Given the description of an element on the screen output the (x, y) to click on. 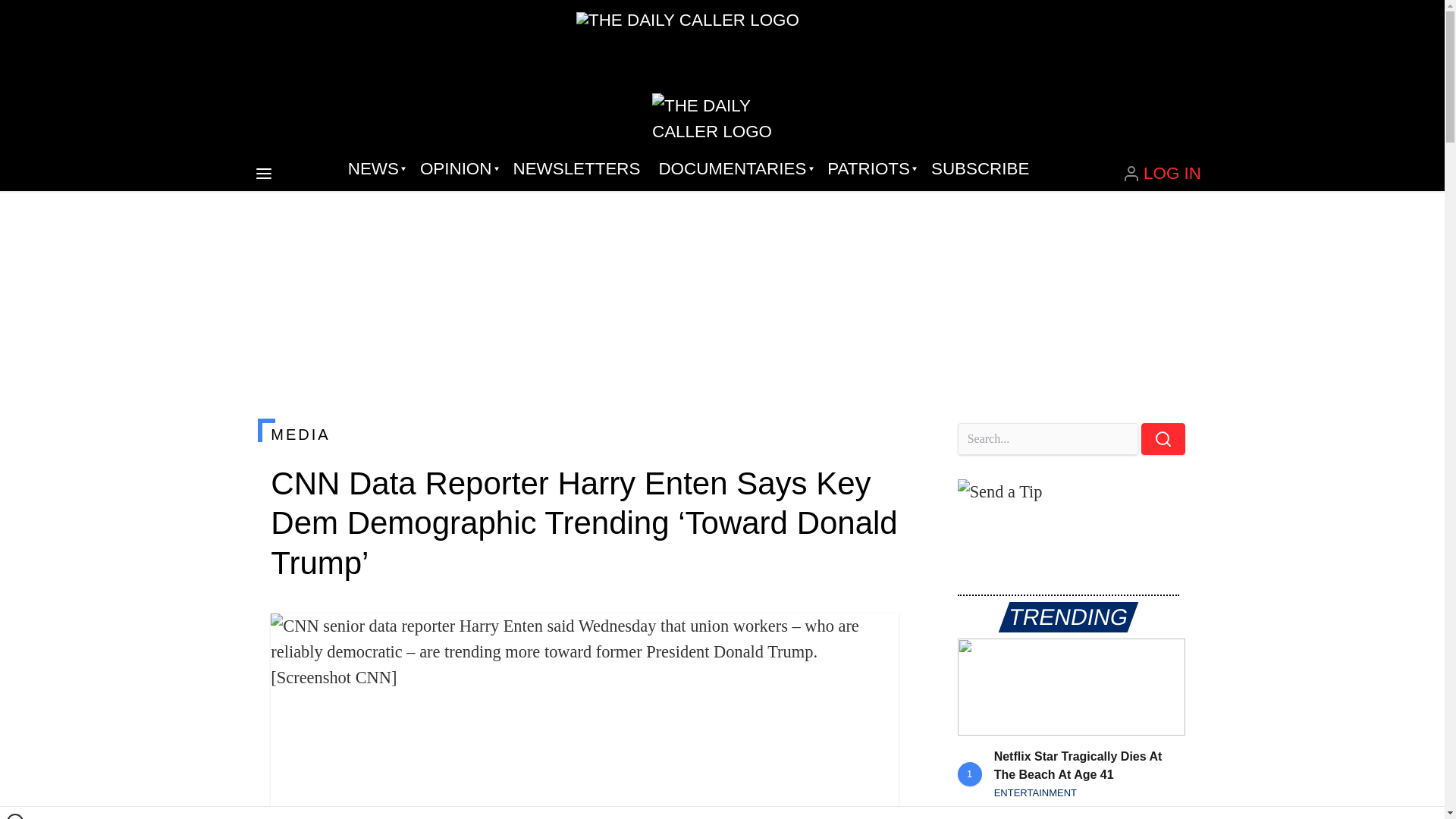
PATRIOTS (869, 168)
DOCUMENTARIES (733, 168)
NEWS (374, 168)
Close window (14, 816)
Netflix Star Tragically Dies At The Beach At Age 41 (1071, 687)
SUBSCRIBE (979, 168)
OPINION (456, 168)
Toggle fullscreen (874, 636)
NEWSLETTERS (576, 168)
MEDIA (584, 434)
